Given the description of an element on the screen output the (x, y) to click on. 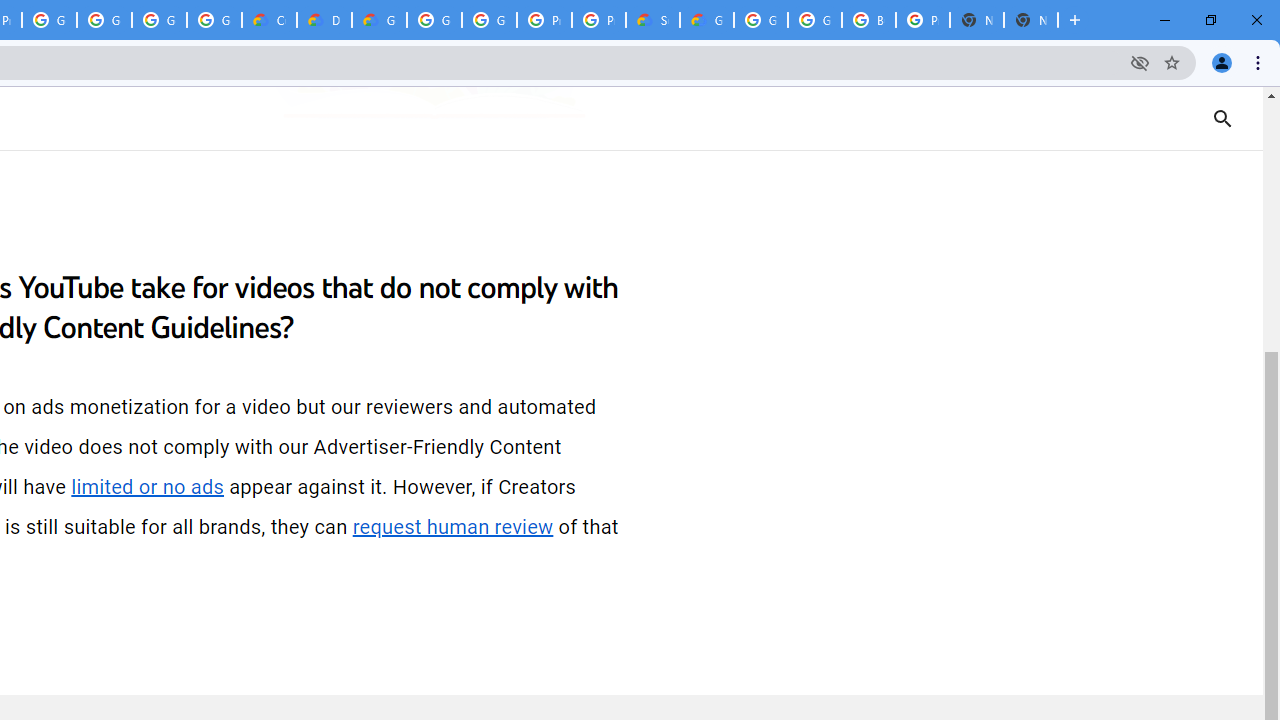
Gemini for Business and Developers | Google Cloud (379, 20)
Google Cloud Service Health (706, 20)
Google Cloud Platform (489, 20)
Support Hub | Google Cloud (652, 20)
Google Cloud Platform (434, 20)
New Tab (1030, 20)
Google Cloud Platform (815, 20)
Google Workspace - Specific Terms (158, 20)
